Given the description of an element on the screen output the (x, y) to click on. 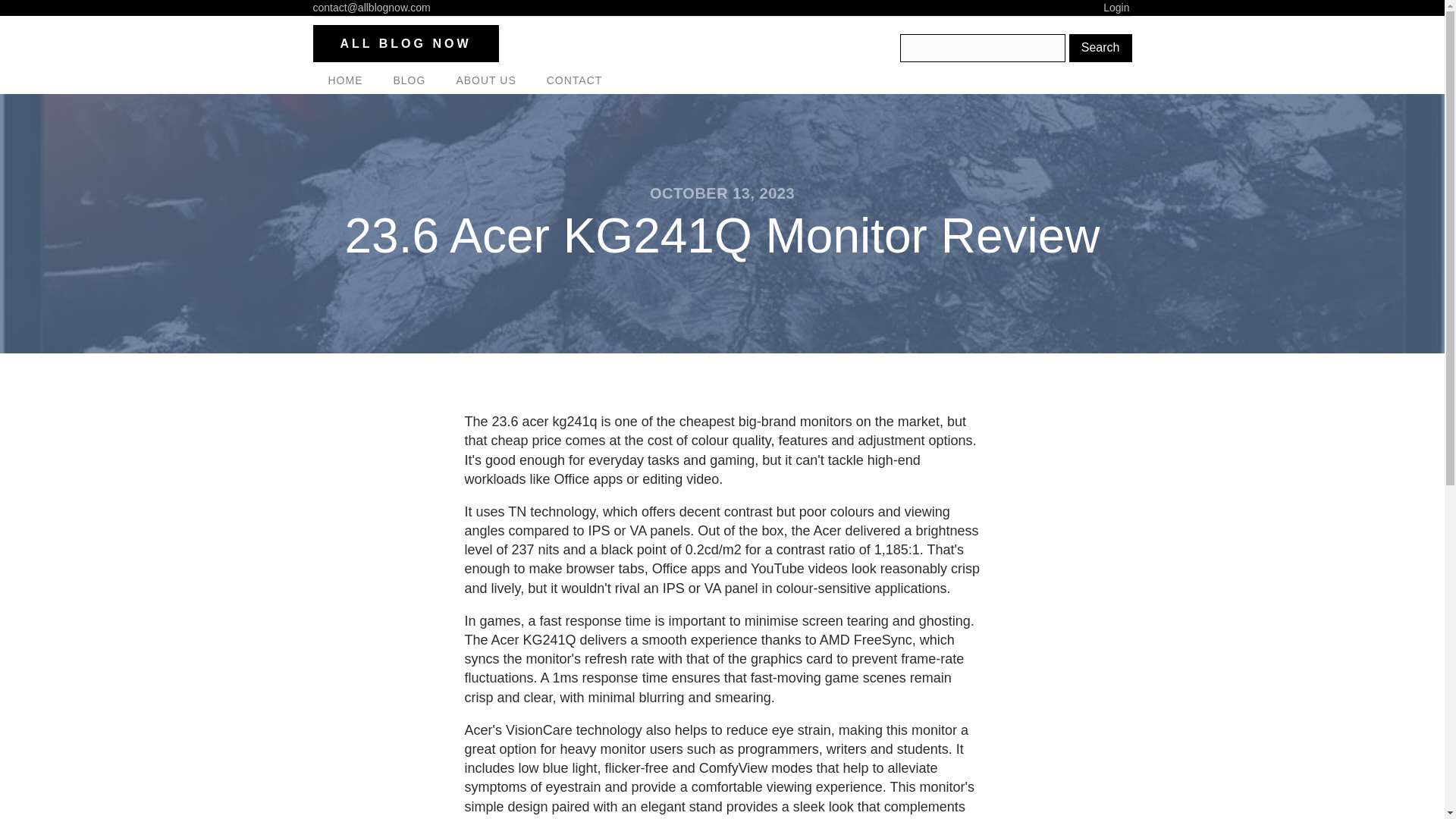
Search (1100, 47)
CONTACT (574, 80)
BLOG (409, 80)
Login (1117, 7)
ALL BLOG NOW (405, 43)
HOME (345, 80)
Search (1100, 47)
ABOUT US (486, 80)
